Given the description of an element on the screen output the (x, y) to click on. 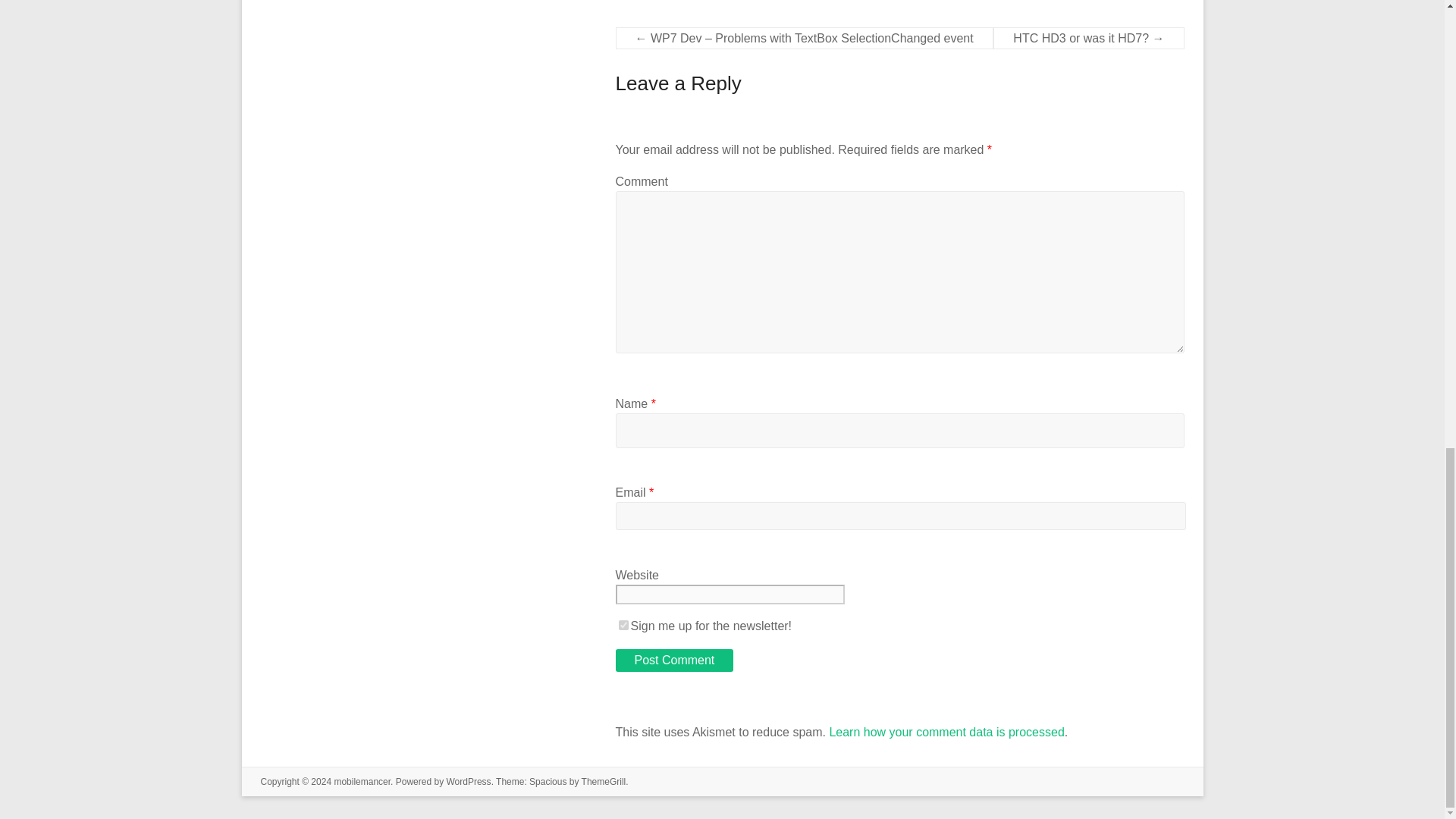
Post Comment (674, 660)
WordPress (467, 781)
Learn how your comment data is processed (946, 731)
1 (623, 624)
mobilemancer (361, 781)
Post Comment (674, 660)
WordPress (467, 781)
ThemeGrill (603, 781)
mobilemancer (361, 781)
ThemeGrill (603, 781)
